Given the description of an element on the screen output the (x, y) to click on. 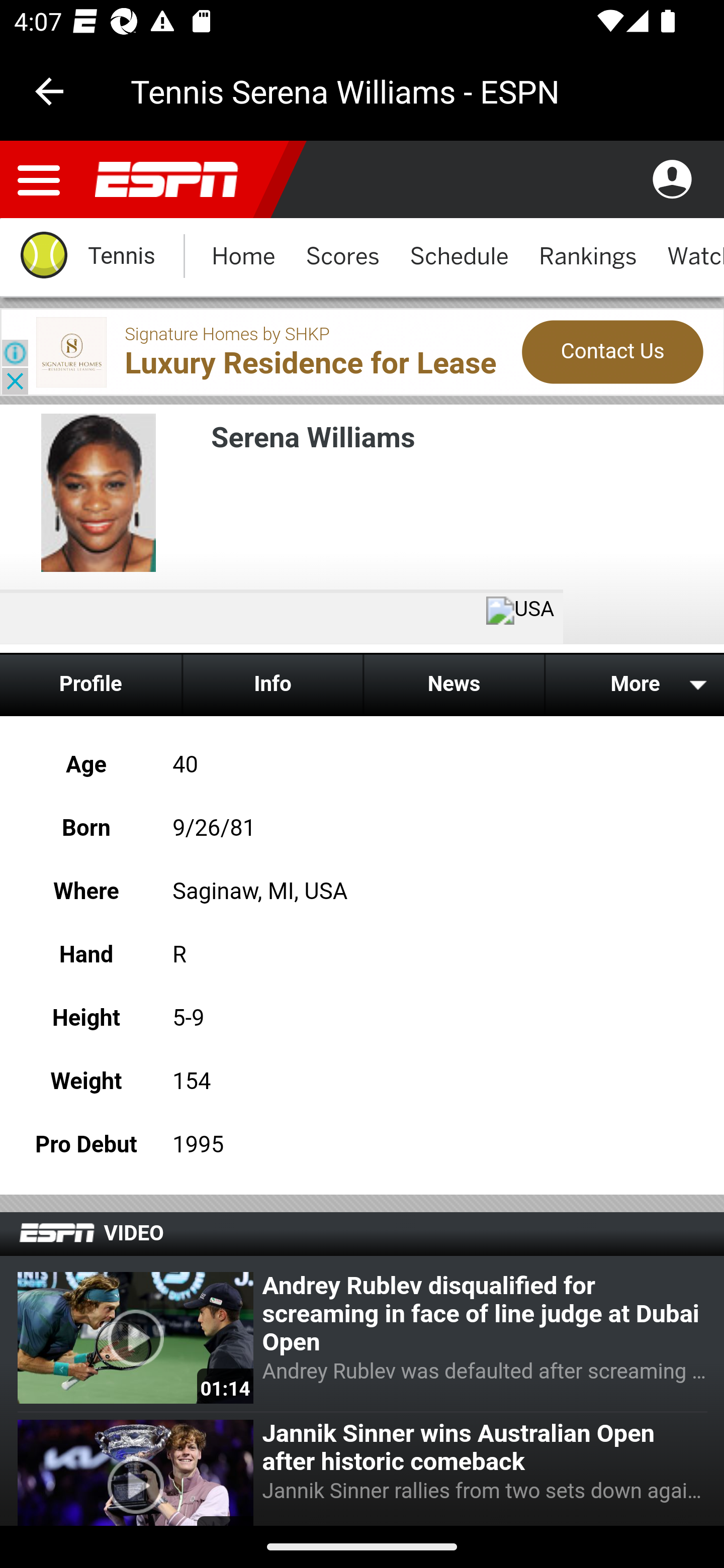
Navigate up (49, 91)
Menu (39, 180)
ESPN ESPN ESPN (173, 180)
signIn ≠ ≠ (671, 180)
Tennis ESPN-icon-tennis Tennis (86, 256)
Home (243, 256)
Scores (341, 256)
Schedule (459, 256)
Rankings (587, 256)
Contact Us (611, 351)
Profile (91, 683)
Info (271, 683)
News (453, 683)
More (633, 683)
